Given the description of an element on the screen output the (x, y) to click on. 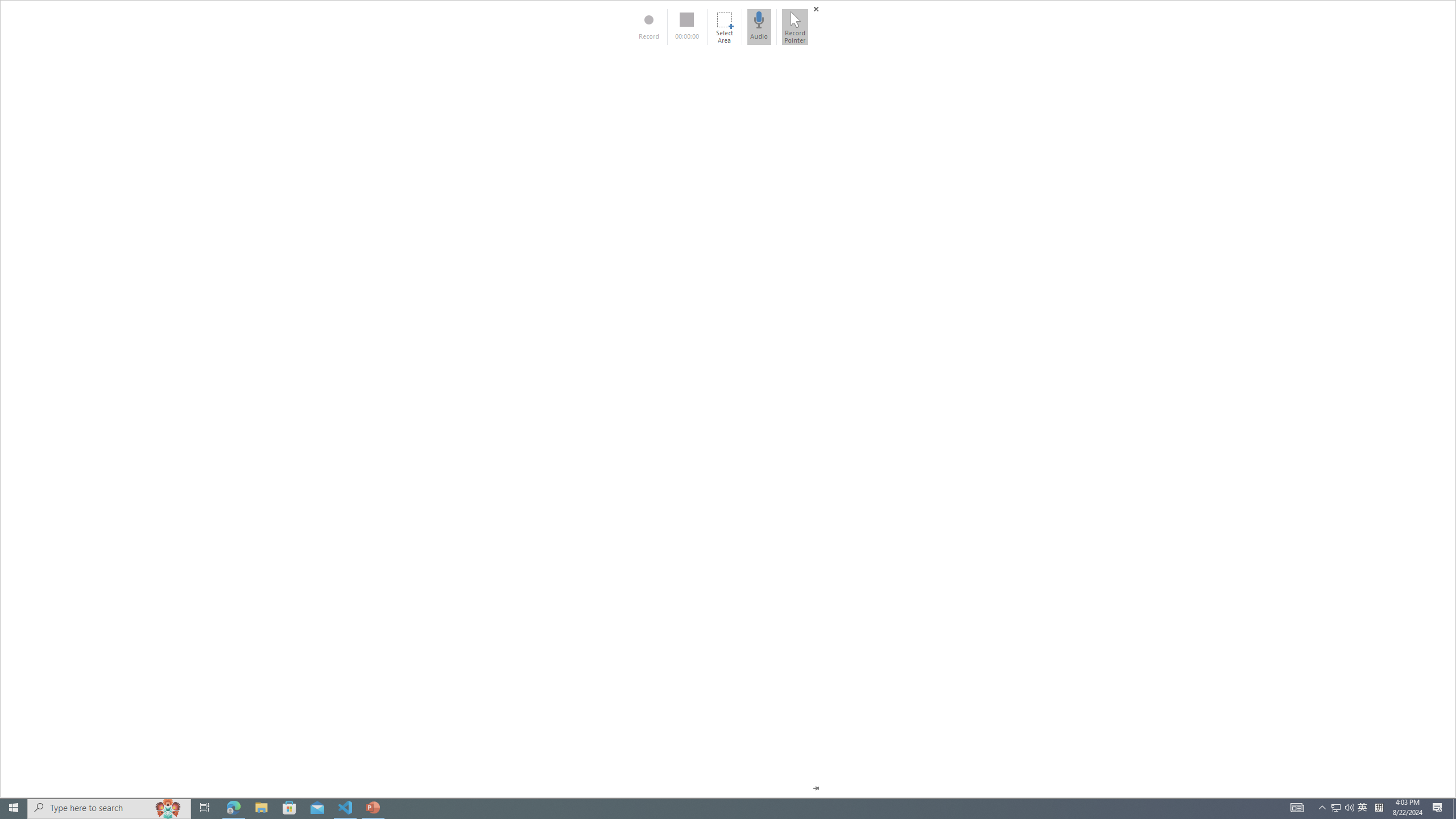
00:00:00 (686, 27)
Pin the Dock (Windows logo key+Shift+I) (815, 788)
MiniBar (728, 398)
Record Pointer (794, 27)
Close (Windows logo key+Shift+Q) (815, 8)
Select Area (723, 27)
